Given the description of an element on the screen output the (x, y) to click on. 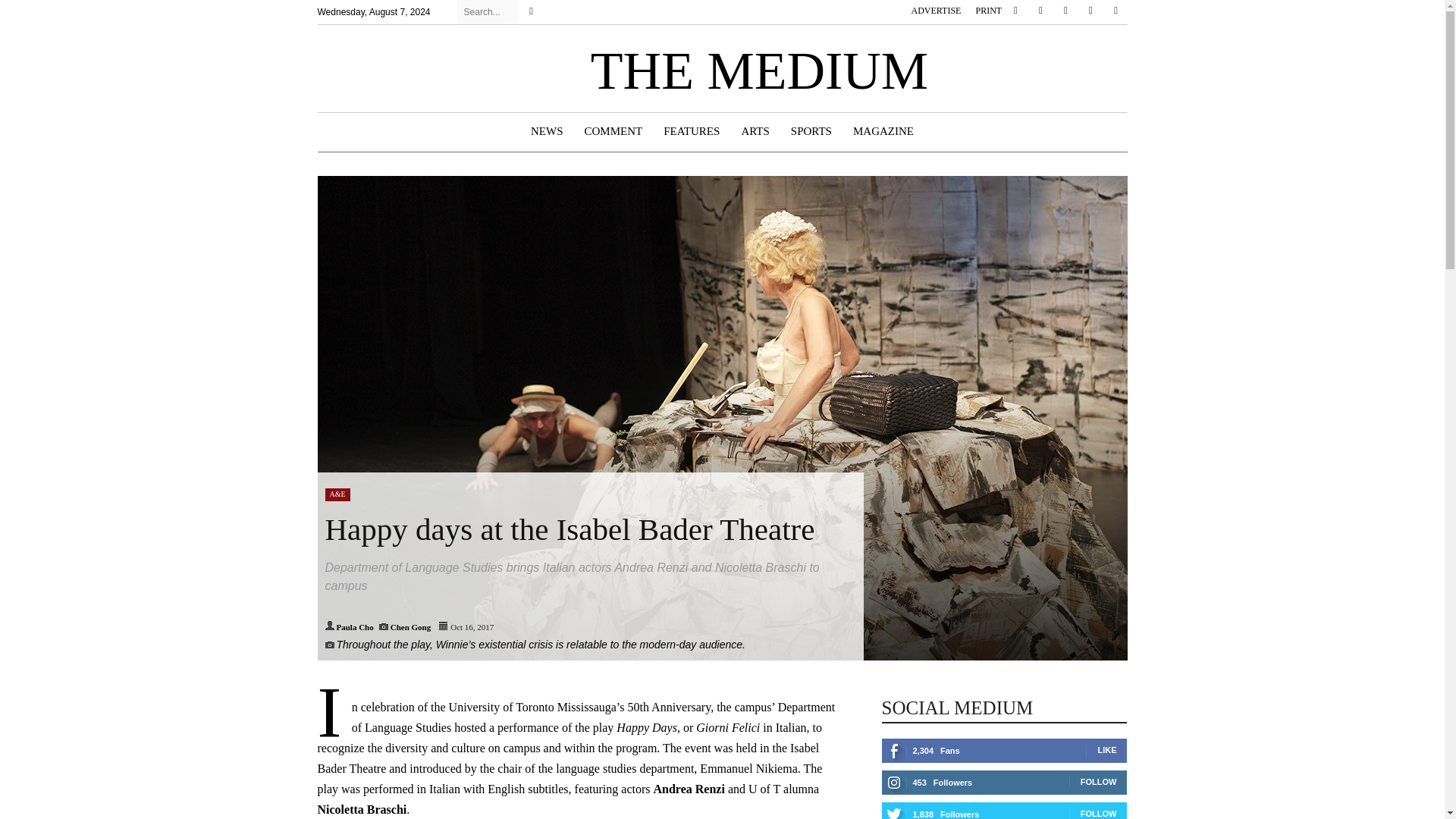
Chen Gong (410, 626)
FEATURES (691, 131)
Twitter (1090, 10)
ARTS (754, 131)
Paula Cho (355, 626)
Search (531, 11)
Date published (443, 624)
Chen Gong (410, 626)
Photographer (383, 624)
SPORTS (811, 131)
COMMENT (613, 131)
Oct 16, 2017 (471, 626)
Youtube (1114, 10)
NEWS (546, 131)
